Given the description of an element on the screen output the (x, y) to click on. 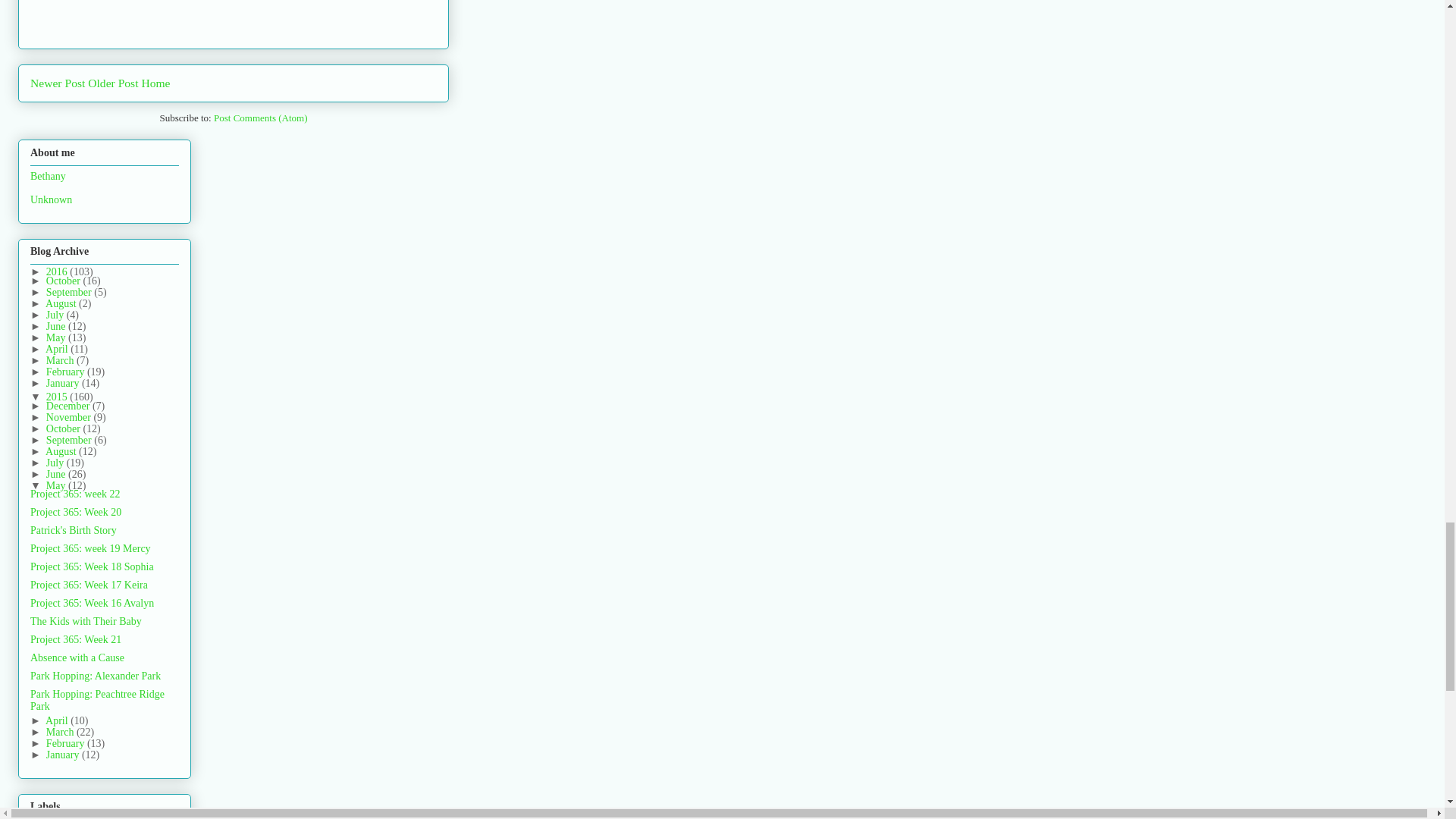
Unknown (50, 199)
Older Post (112, 82)
October (64, 280)
August (61, 303)
September (70, 292)
Home (155, 82)
Newer Post (57, 82)
Bethany (47, 175)
Newer Post (57, 82)
Older Post (112, 82)
2016 (57, 271)
